Given the description of an element on the screen output the (x, y) to click on. 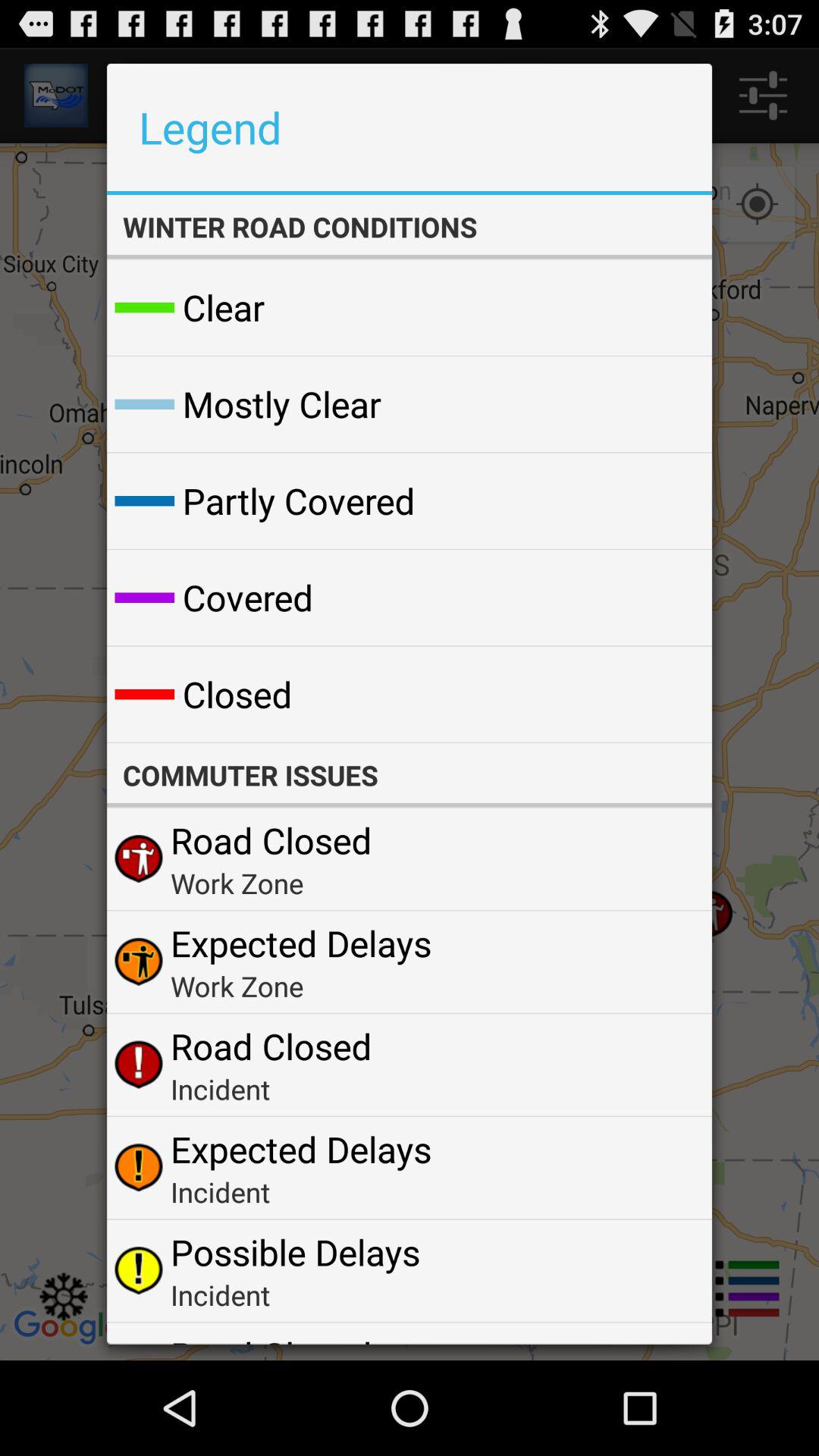
select the icon to the right of expected delays icon (664, 961)
